Given the description of an element on the screen output the (x, y) to click on. 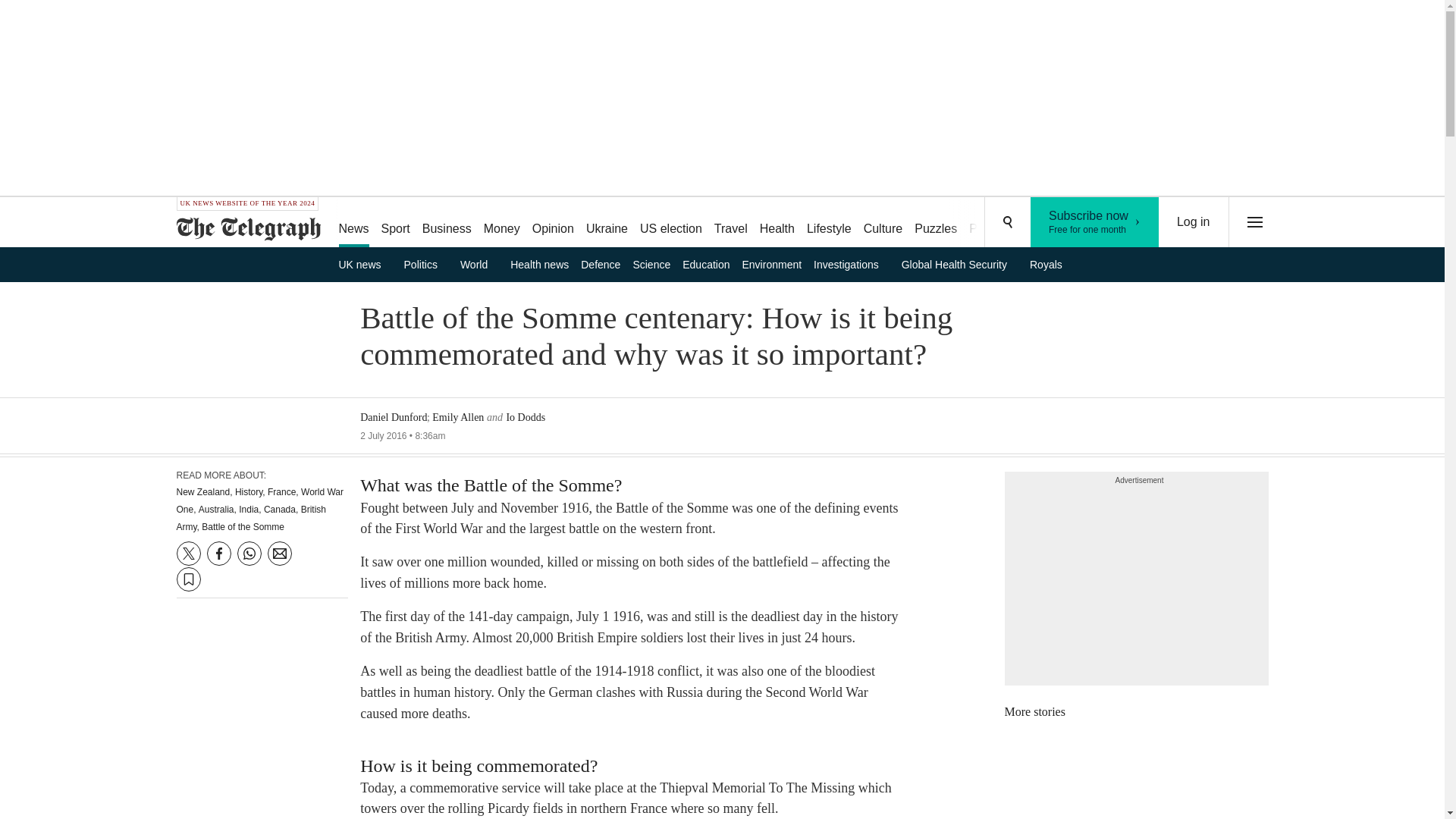
Business (446, 223)
Lifestyle (828, 223)
Culture (882, 223)
World (1094, 222)
Opinion (478, 264)
Health (552, 223)
Politics (777, 223)
Log in (425, 264)
Podcasts (1193, 222)
